Given the description of an element on the screen output the (x, y) to click on. 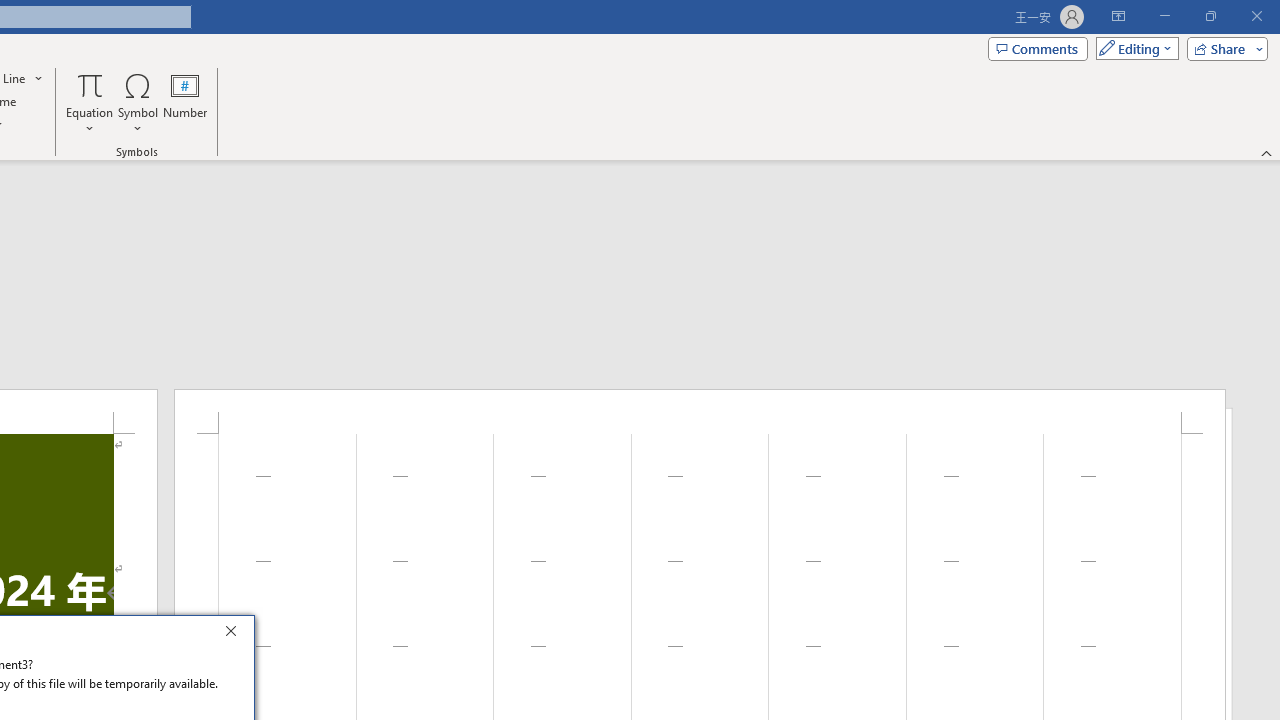
Symbol (138, 102)
Equation (90, 84)
Number... (185, 102)
Equation (90, 102)
